Given the description of an element on the screen output the (x, y) to click on. 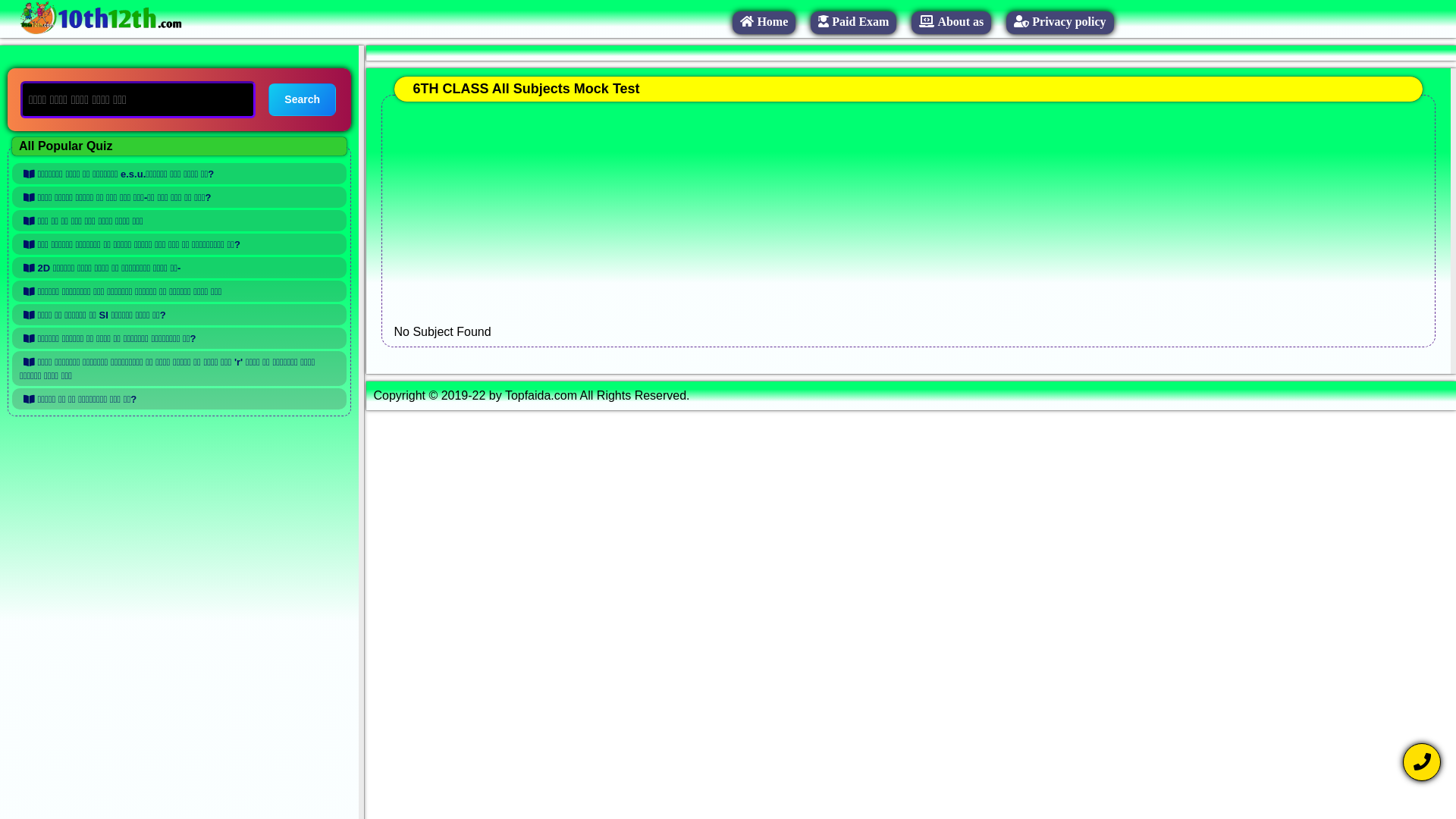
Search Element type: text (301, 99)
About as Element type: text (951, 21)
Privacy policy Element type: text (1059, 21)
Paid Exam Element type: text (853, 21)
Home Element type: text (763, 21)
